Given the description of an element on the screen output the (x, y) to click on. 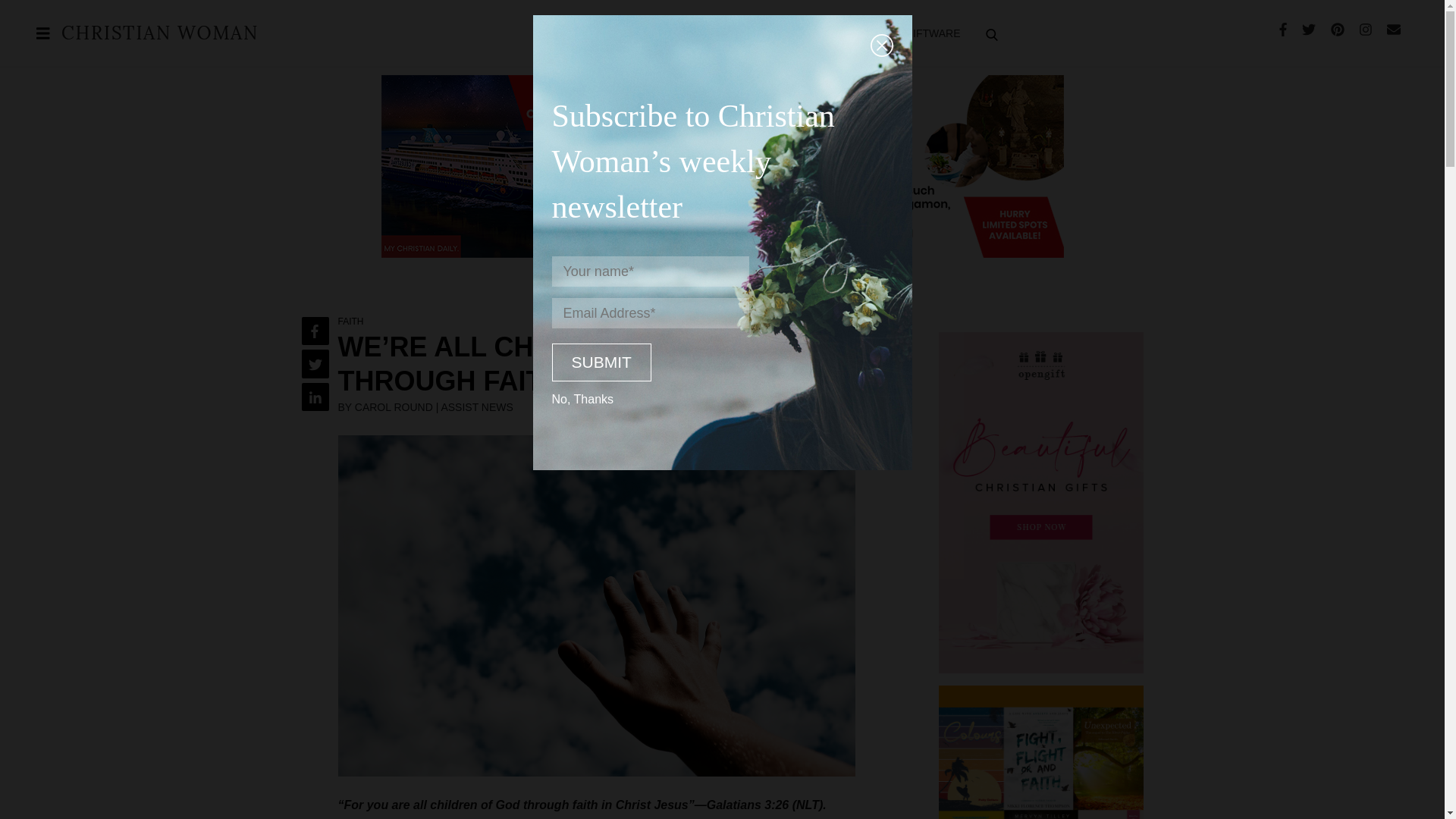
PARENTING (613, 33)
RELATIONSHIPS (700, 33)
Search (1398, 98)
GIFTWARE (932, 33)
Click to share this post on Twitter (315, 363)
Christian Woman (159, 34)
SUBMIT (600, 362)
FAITH (552, 33)
